Given the description of an element on the screen output the (x, y) to click on. 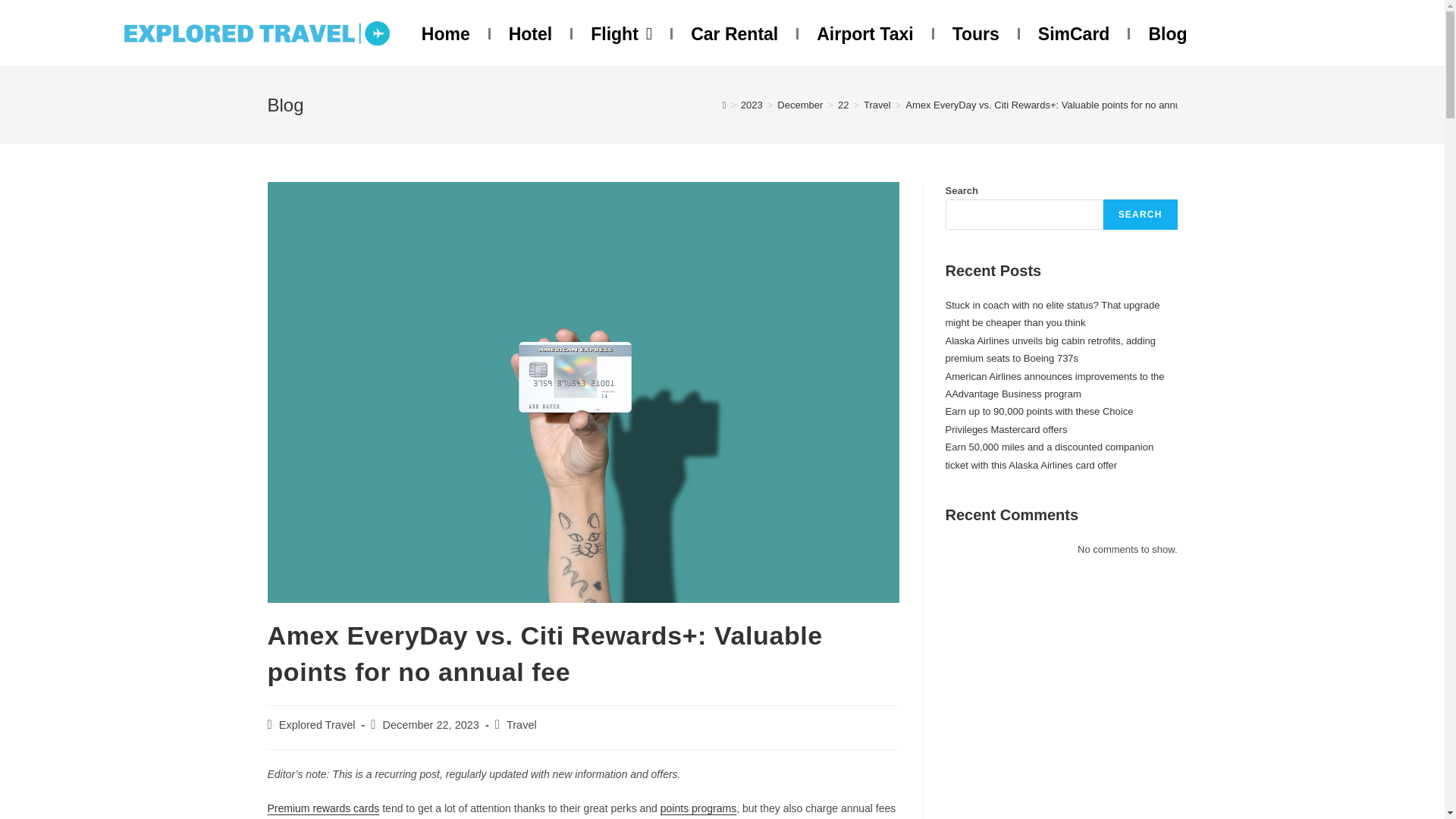
Explored Travel (317, 725)
Premium rewards cards (322, 808)
points programs (698, 808)
Airport Taxi (864, 33)
SimCard (1073, 33)
Blog (1167, 33)
Car Rental (734, 33)
Travel (877, 104)
Travel (521, 725)
December (799, 104)
Flight (621, 33)
2023 (751, 104)
22 (843, 104)
Posts by Explored Travel (317, 725)
Home (446, 33)
